Given the description of an element on the screen output the (x, y) to click on. 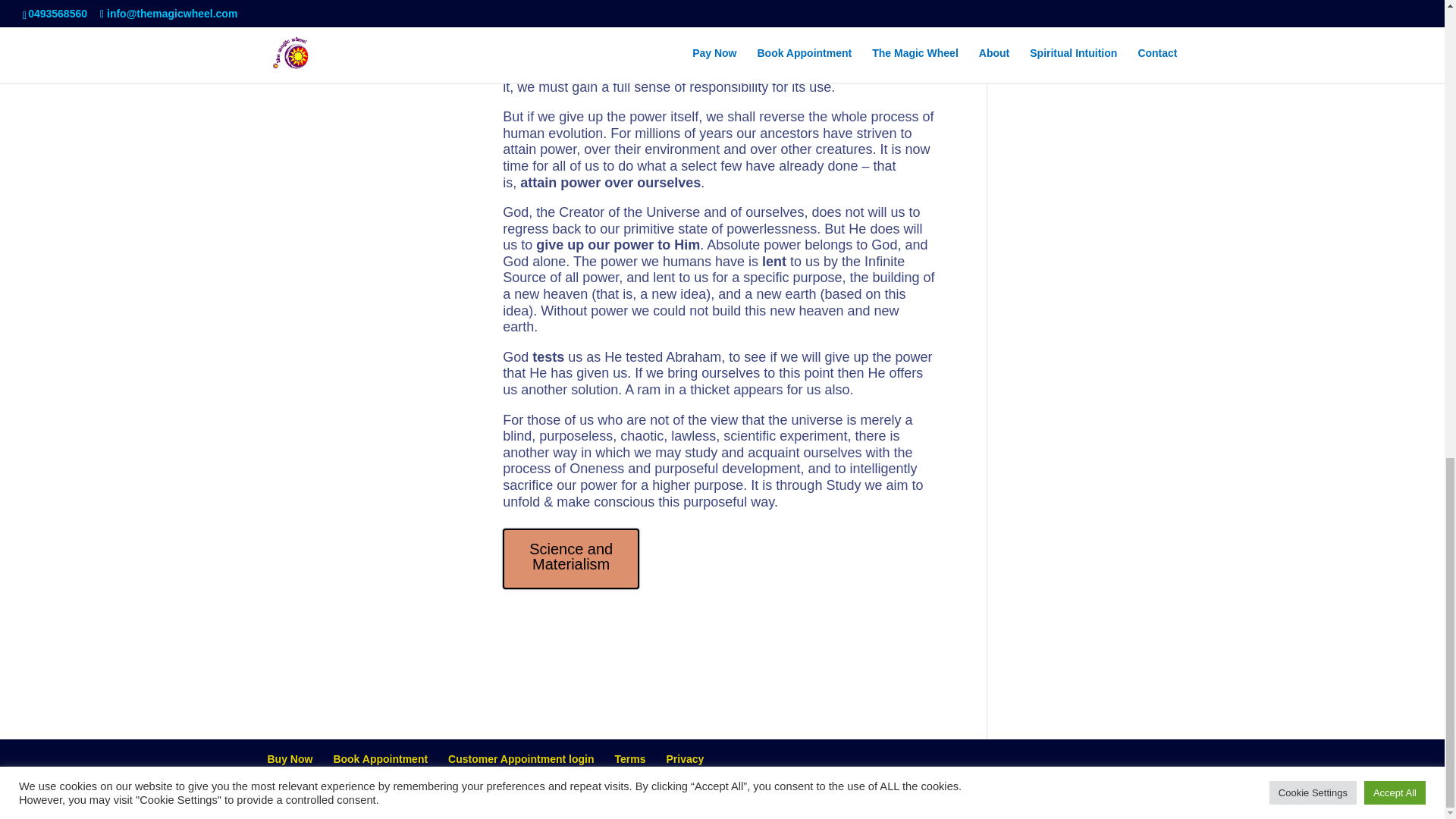
Customer Appointment login (521, 758)
Privacy (684, 758)
Science and Materialism (570, 558)
Book Appointment (380, 758)
Buy Now (289, 758)
Terms (629, 758)
